Given the description of an element on the screen output the (x, y) to click on. 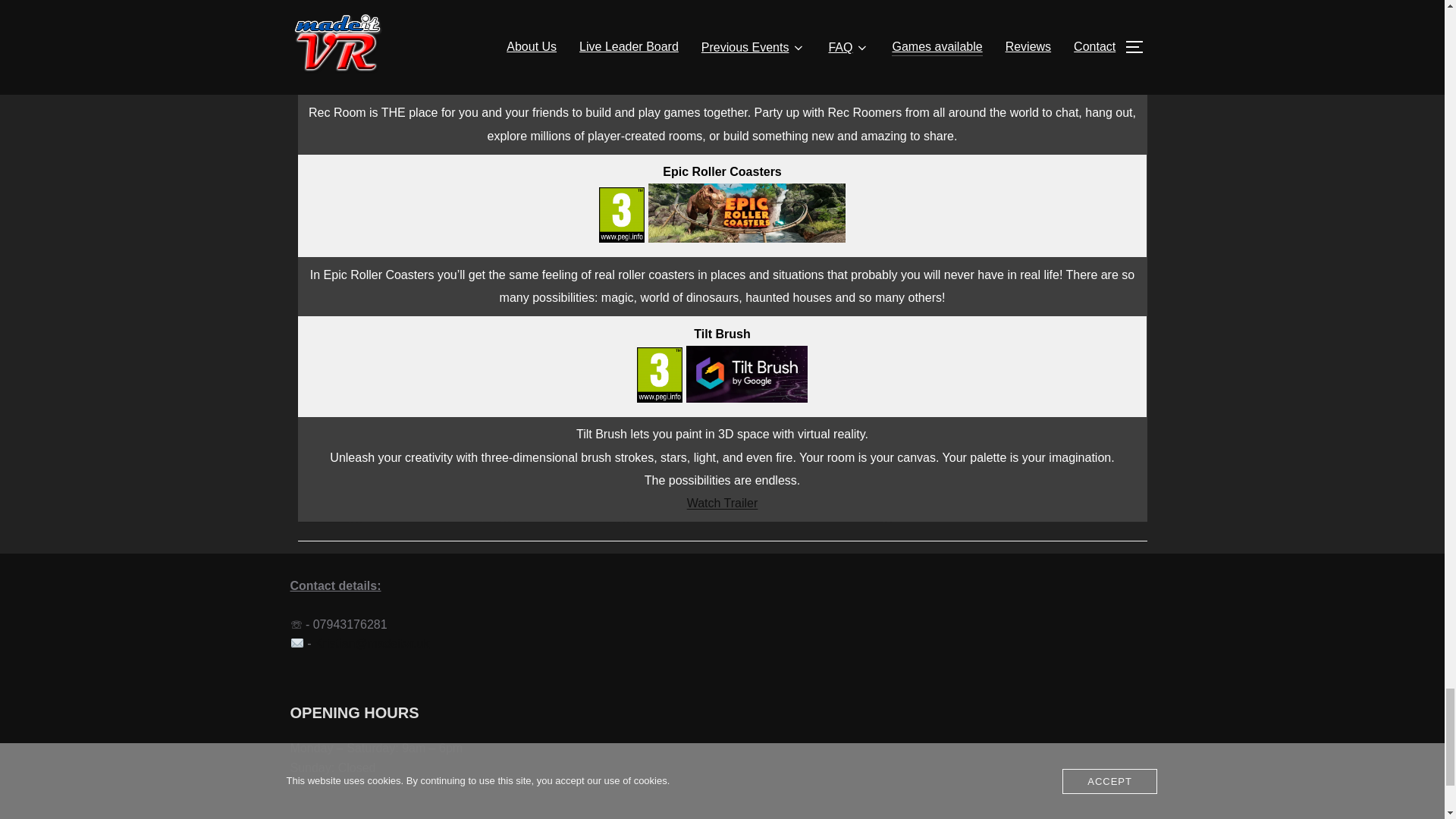
Watch Trailer (722, 502)
